Given the description of an element on the screen output the (x, y) to click on. 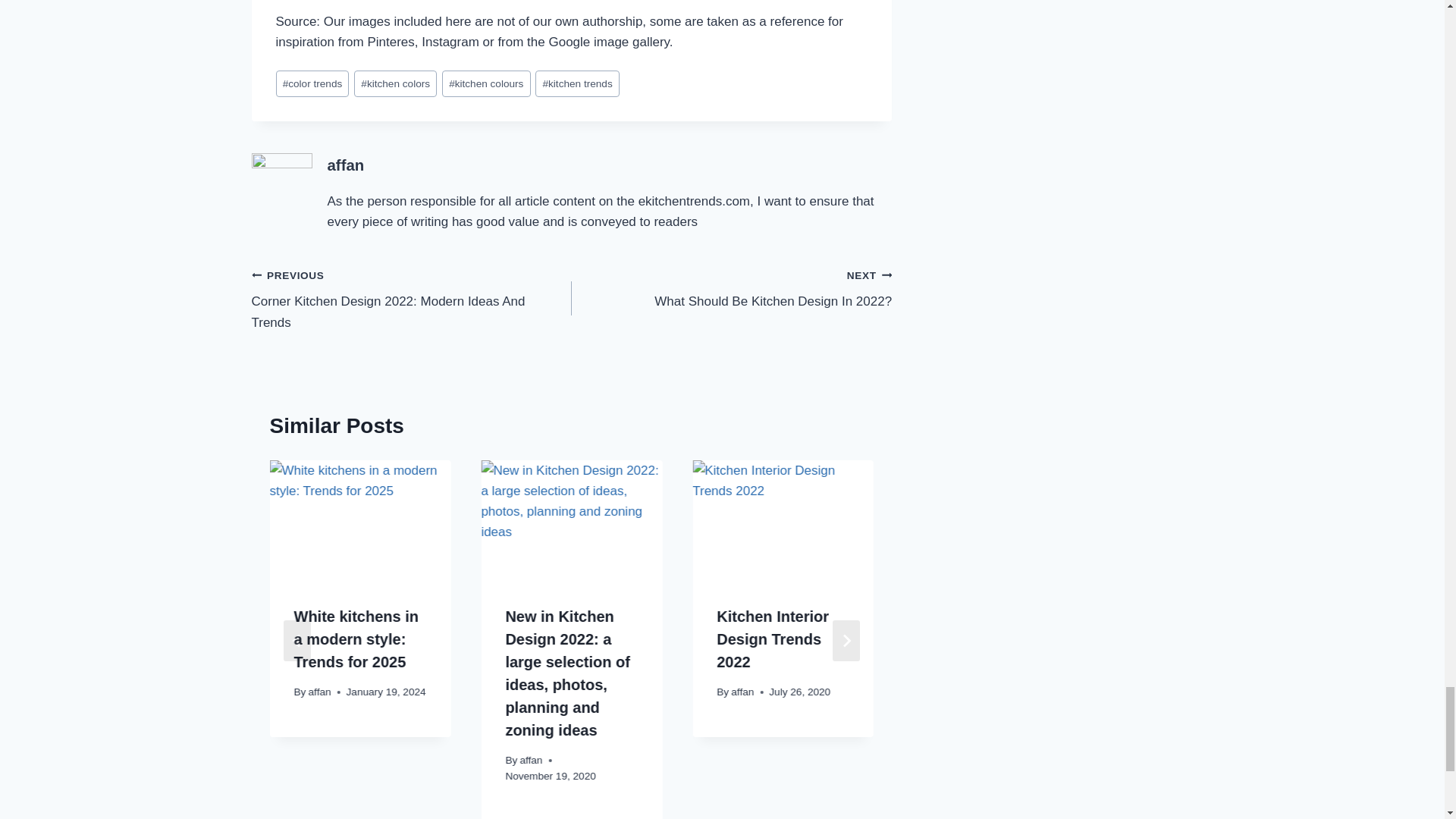
kitchen colors (394, 83)
color trends (312, 83)
kitchen trends (577, 83)
kitchen colours (486, 83)
Posts by affan (346, 165)
